Given the description of an element on the screen output the (x, y) to click on. 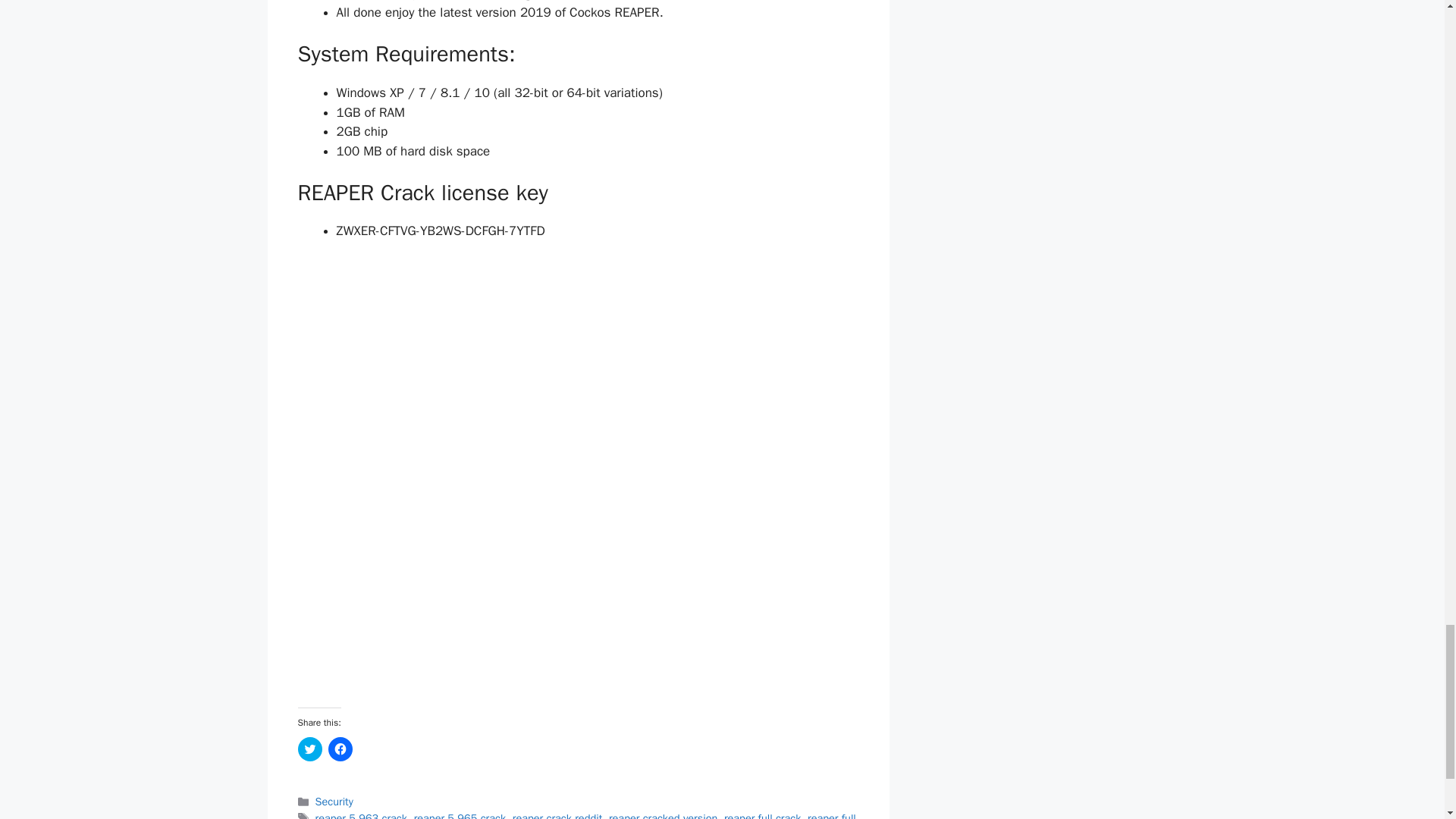
reaper full version (576, 815)
Click to share on Twitter (309, 749)
reaper cracked version (662, 815)
reaper full crack (762, 815)
reaper 5.965 crack (459, 815)
reaper 5.963 crack (361, 815)
Click to share on Facebook (339, 749)
Security (334, 801)
reaper crack reddit (557, 815)
